Given the description of an element on the screen output the (x, y) to click on. 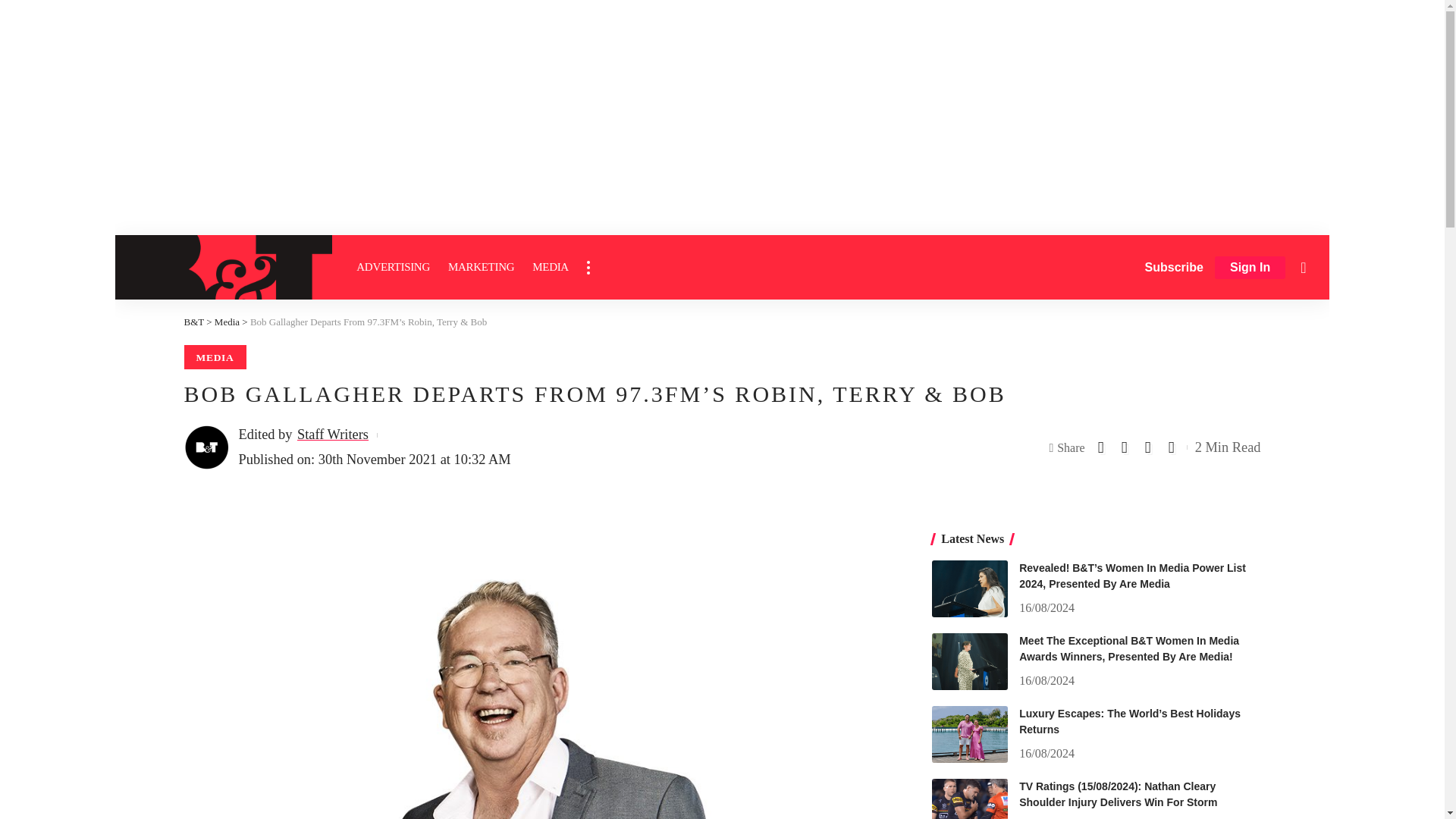
ADVERTISING (393, 267)
MARKETING (480, 267)
Go to the Media Category archives. (227, 321)
Subscribe (1174, 267)
Sign In (1249, 267)
